Given the description of an element on the screen output the (x, y) to click on. 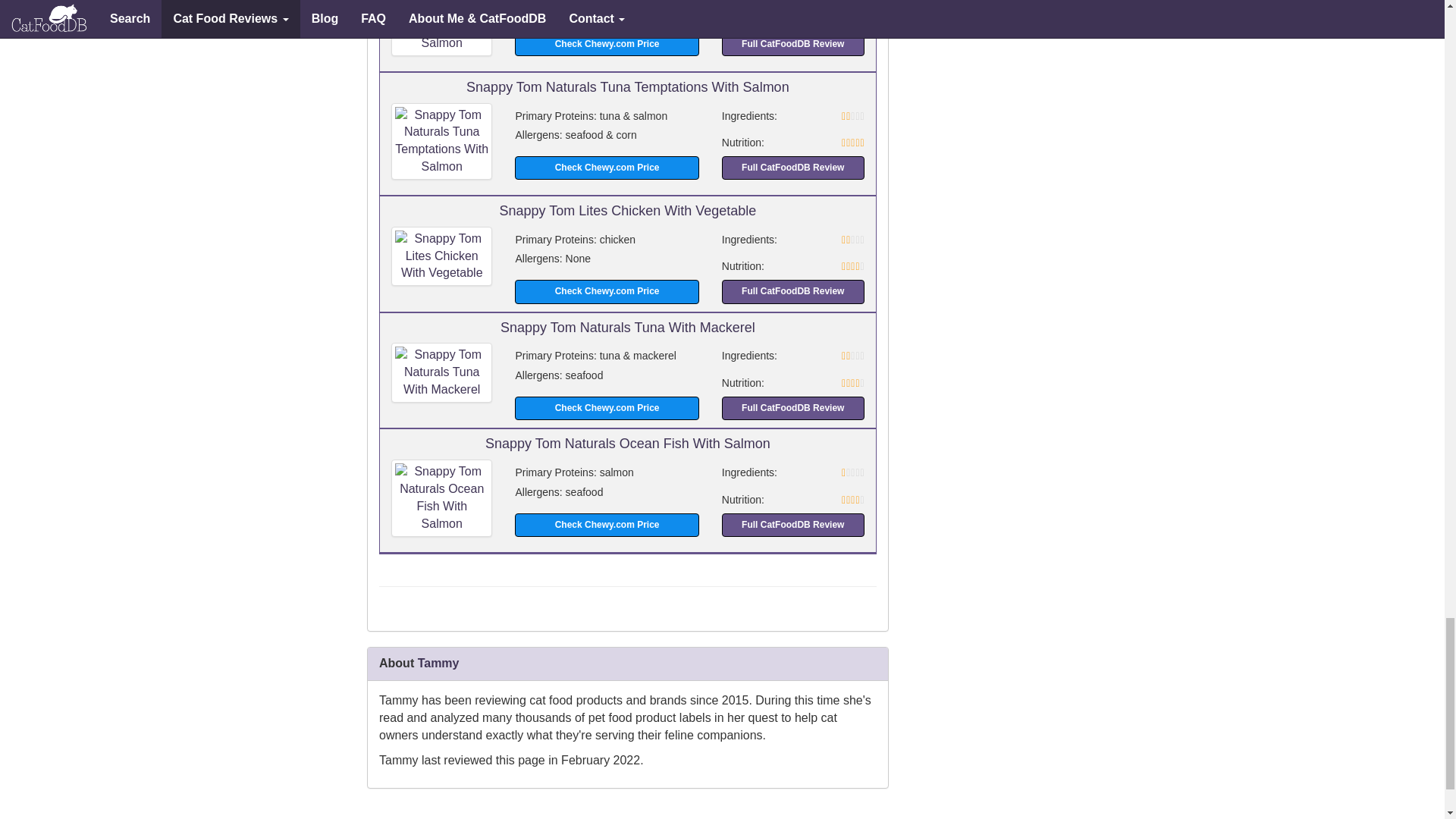
Snappy Tom Lites Chicken With Vegetable (441, 256)
Snappy Tom Naturals Ocean Fish With Salmon (441, 497)
Snappy Tom Naturals Tuna Temptations With Salmon (441, 141)
Snappy Tom Naturals Tuna With Mackerel (441, 372)
Snappy Tom Naturals Sardine Cutlet With Salmon (441, 27)
